Given the description of an element on the screen output the (x, y) to click on. 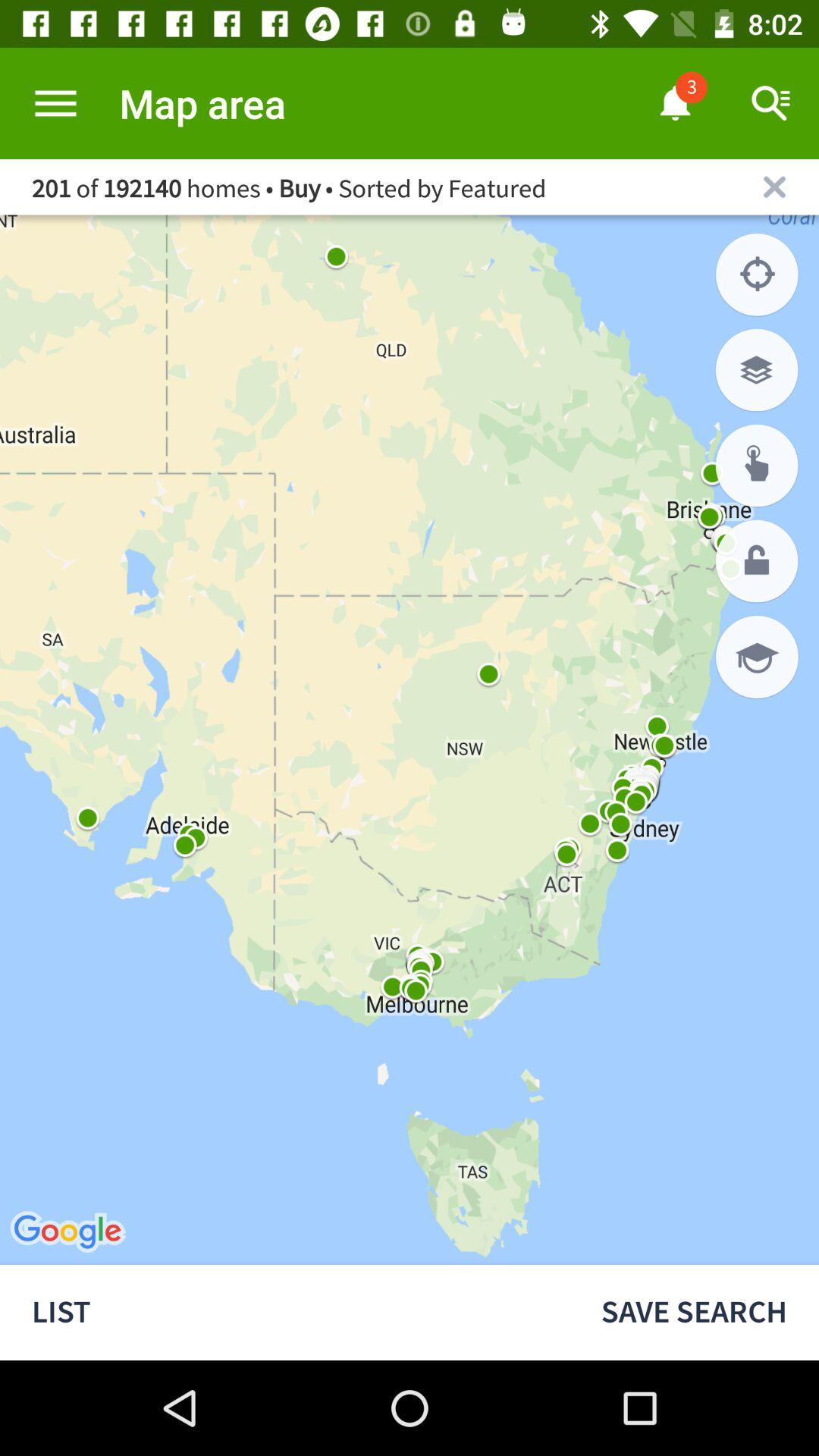
click item next to the list item (694, 1312)
